Given the description of an element on the screen output the (x, y) to click on. 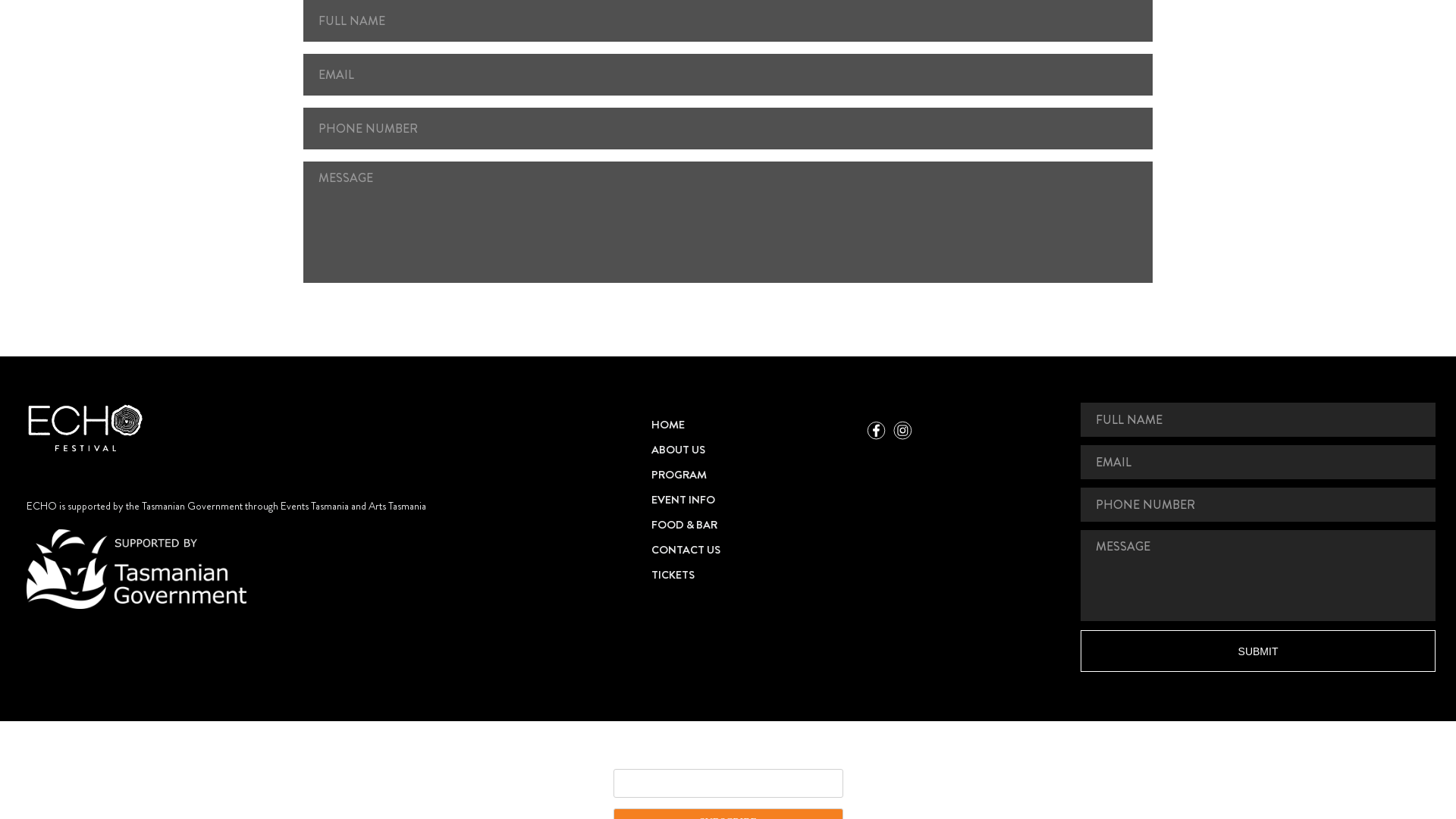
TICKETS Element type: text (752, 574)
EVENT INFO Element type: text (752, 499)
CONTACT US Element type: text (752, 549)
HOME Element type: text (752, 424)
Submit Element type: text (727, 316)
FOOD & BAR Element type: text (752, 524)
ABOUT US Element type: text (752, 449)
PROGRAM Element type: text (752, 474)
Submit Element type: text (1257, 650)
